Given the description of an element on the screen output the (x, y) to click on. 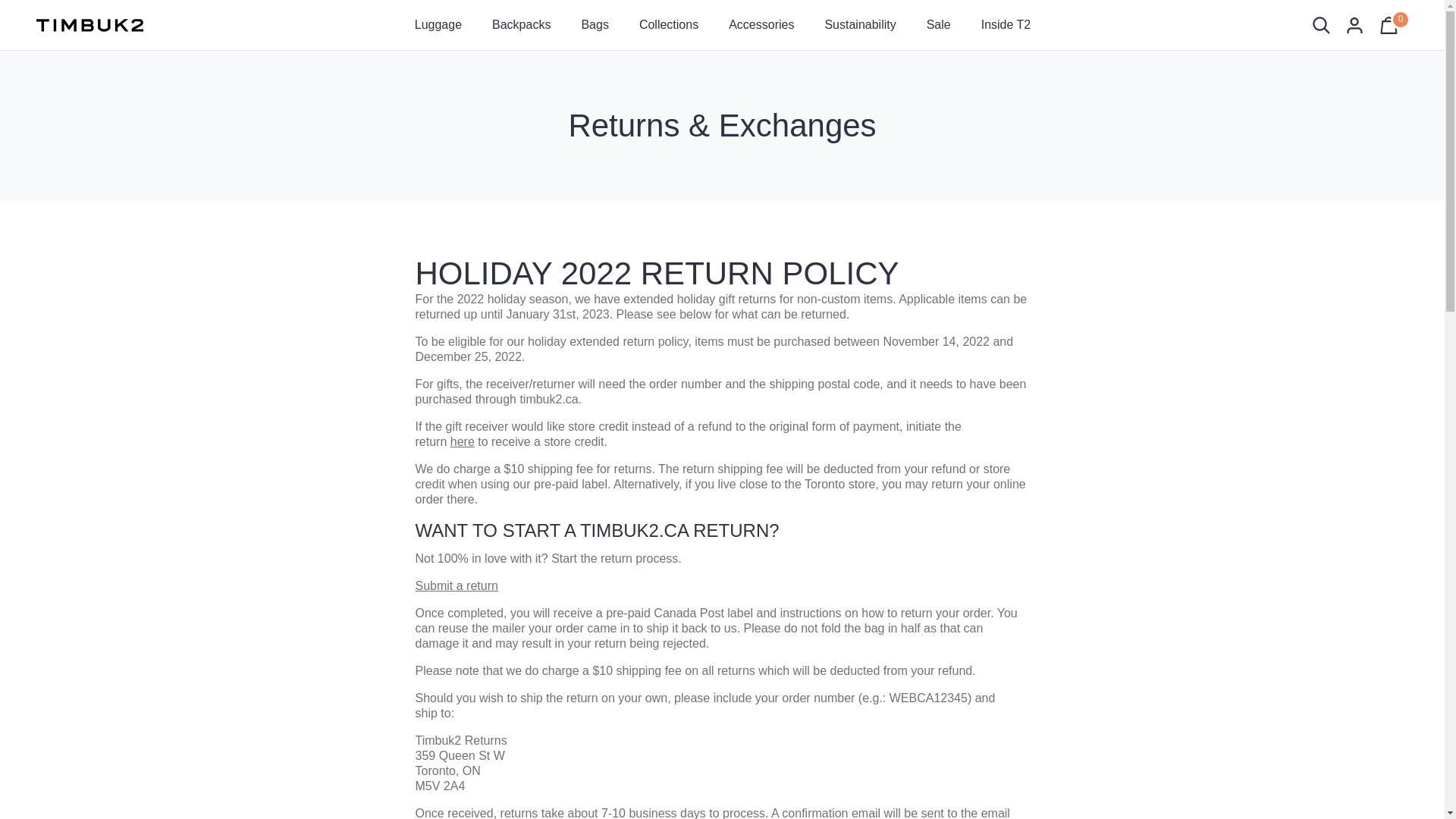
Collections (668, 24)
Backpacks (521, 24)
Luggage (437, 24)
Bags (594, 24)
